Given the description of an element on the screen output the (x, y) to click on. 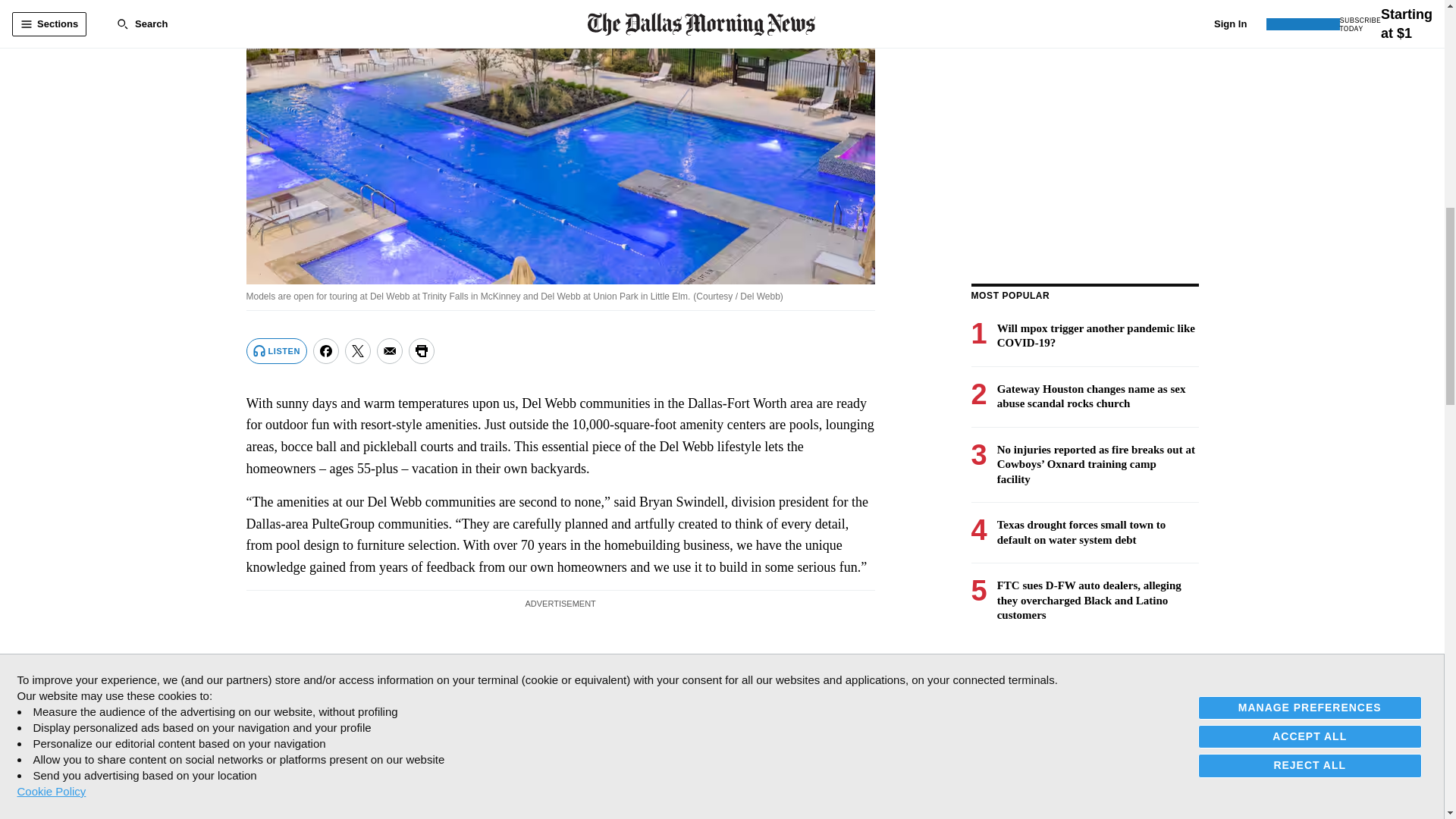
Share on Facebook (326, 350)
Share via Email (390, 350)
Share on Twitter (358, 350)
Print (421, 350)
